Given the description of an element on the screen output the (x, y) to click on. 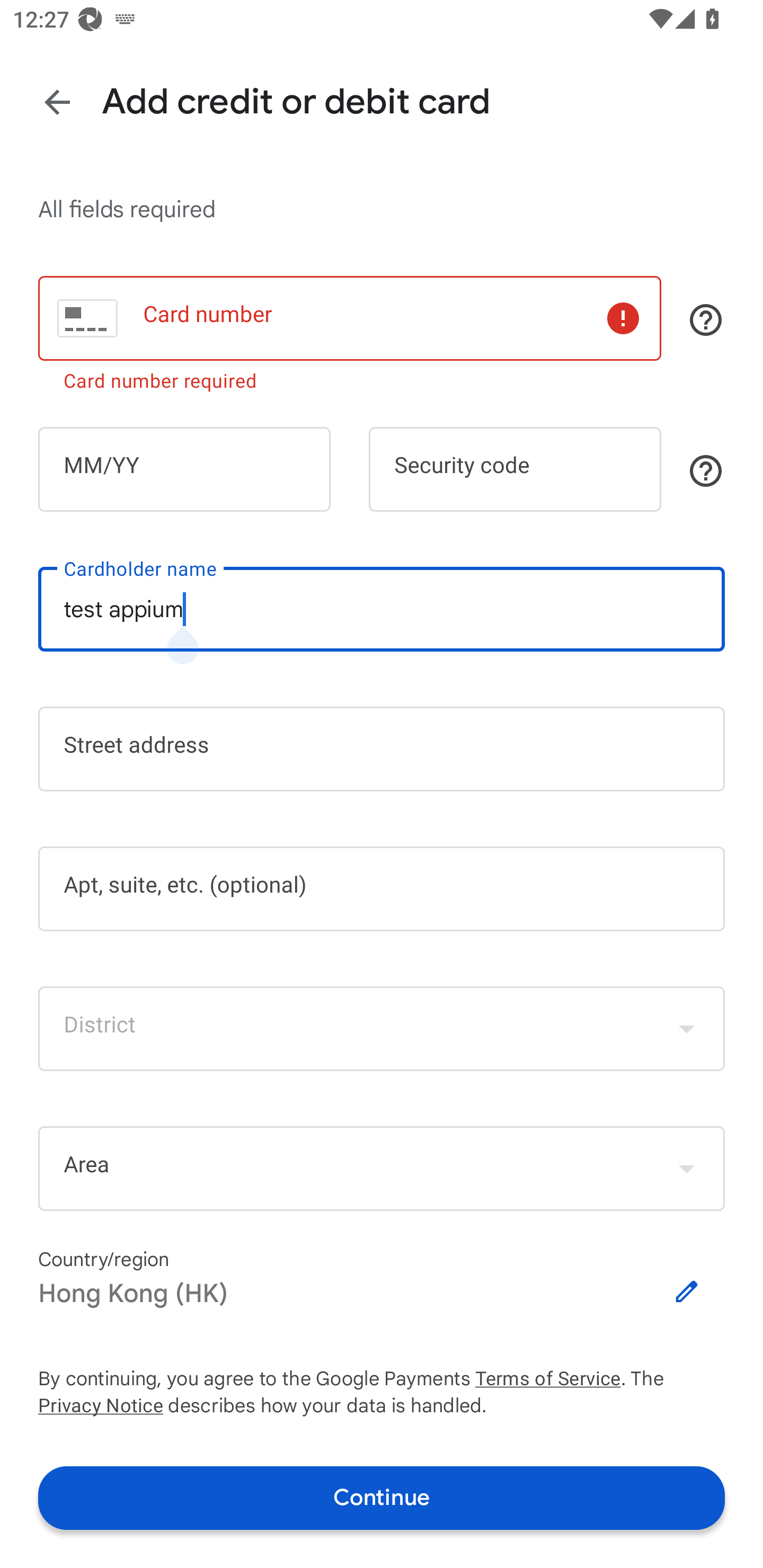
Back (57, 102)
Card number (349, 317)
Button, shows cards that are accepted for payment (705, 319)
Expiration date, 2 digit month, 2 digit year (184, 468)
Security code (514, 468)
Security code help (705, 470)
test appium (381, 609)
Street address (381, 749)
Apt, suite, etc. (optional) (381, 888)
District (381, 1028)
Show dropdown menu (686, 1028)
Area (381, 1167)
Show dropdown menu (686, 1168)
country edit button (686, 1290)
Terms of Service (547, 1378)
Privacy Notice (100, 1406)
Continue (381, 1498)
